Given the description of an element on the screen output the (x, y) to click on. 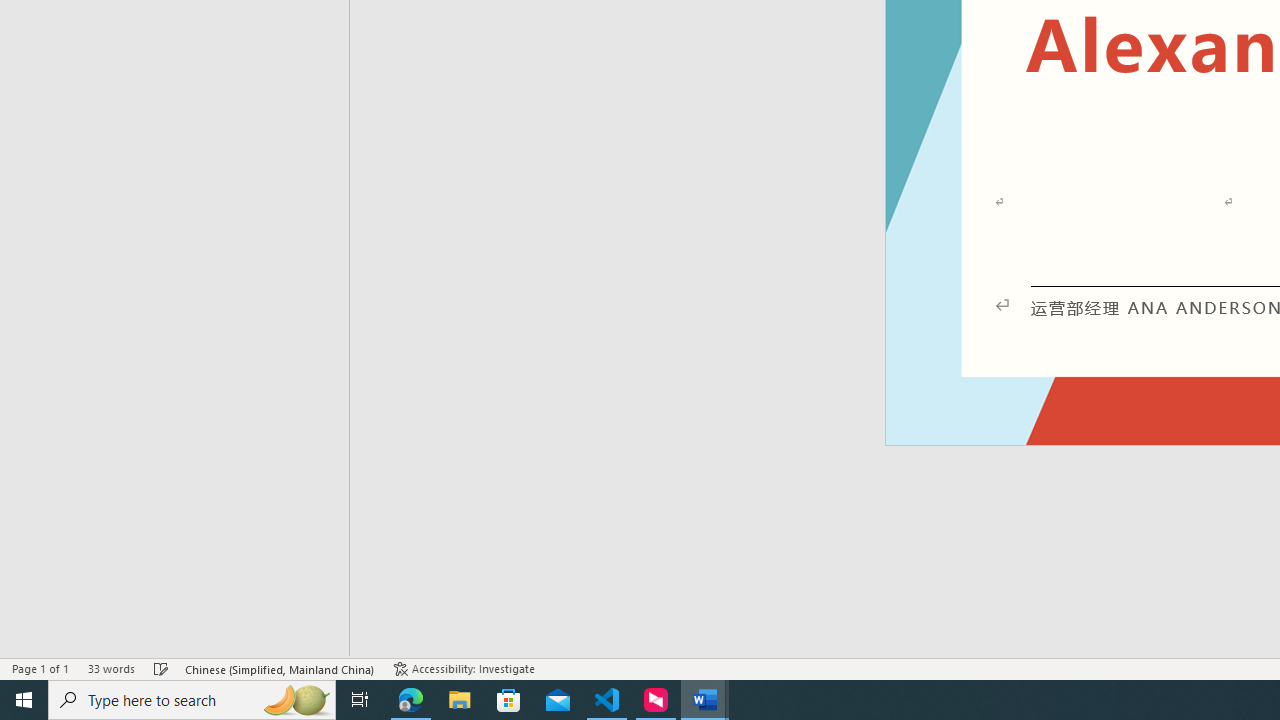
Language Chinese (Simplified, Mainland China) (279, 668)
Accessibility Checker Accessibility: Investigate (464, 668)
Spelling and Grammar Check Checking (161, 668)
Page Number Page 1 of 1 (39, 668)
